Given the description of an element on the screen output the (x, y) to click on. 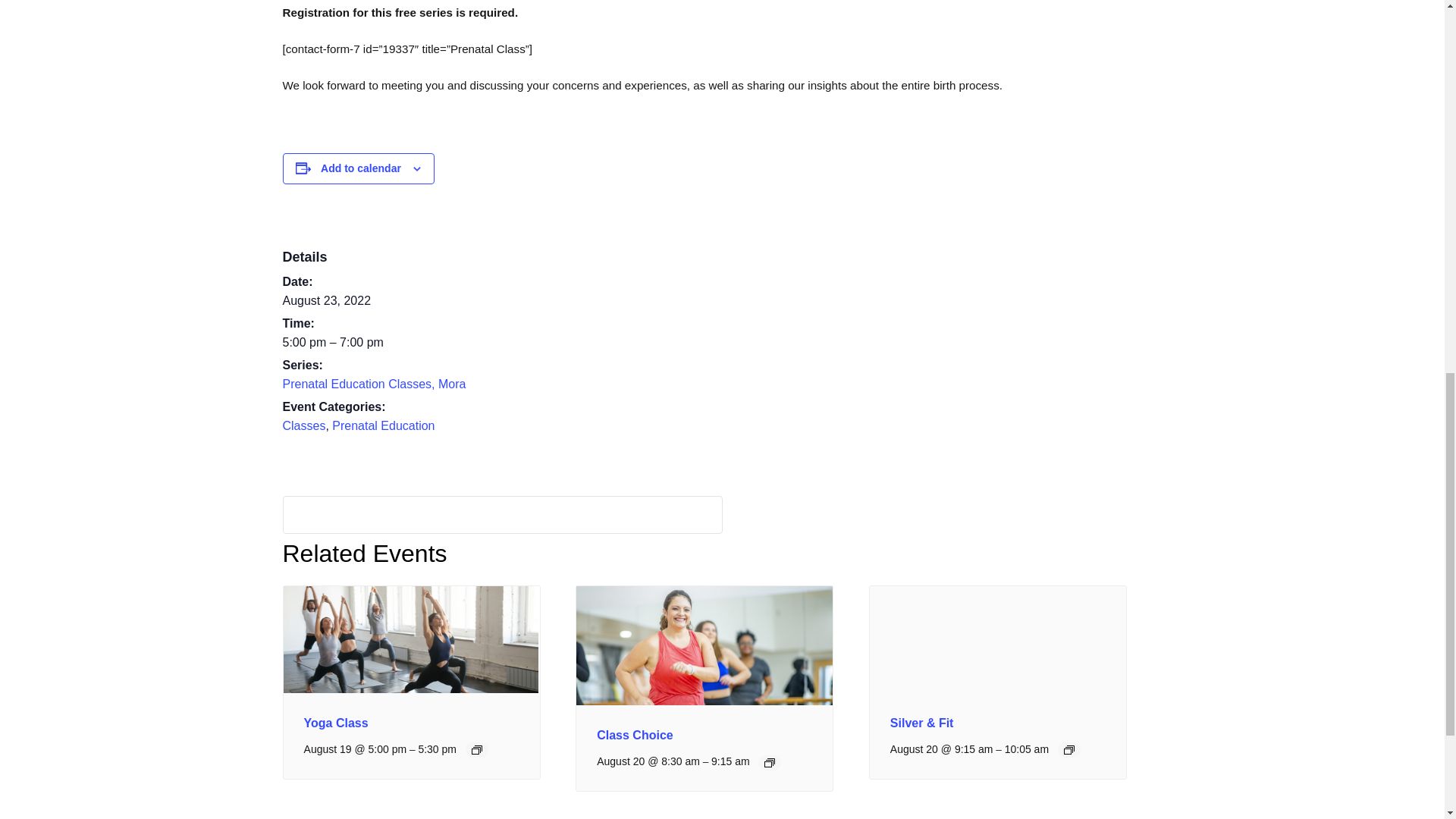
Event Series (1069, 749)
Event Series (769, 762)
Prenatal Education Classes, Mora (373, 383)
2022-08-23 (373, 342)
Event Series (476, 749)
2022-08-23 (326, 300)
